Given the description of an element on the screen output the (x, y) to click on. 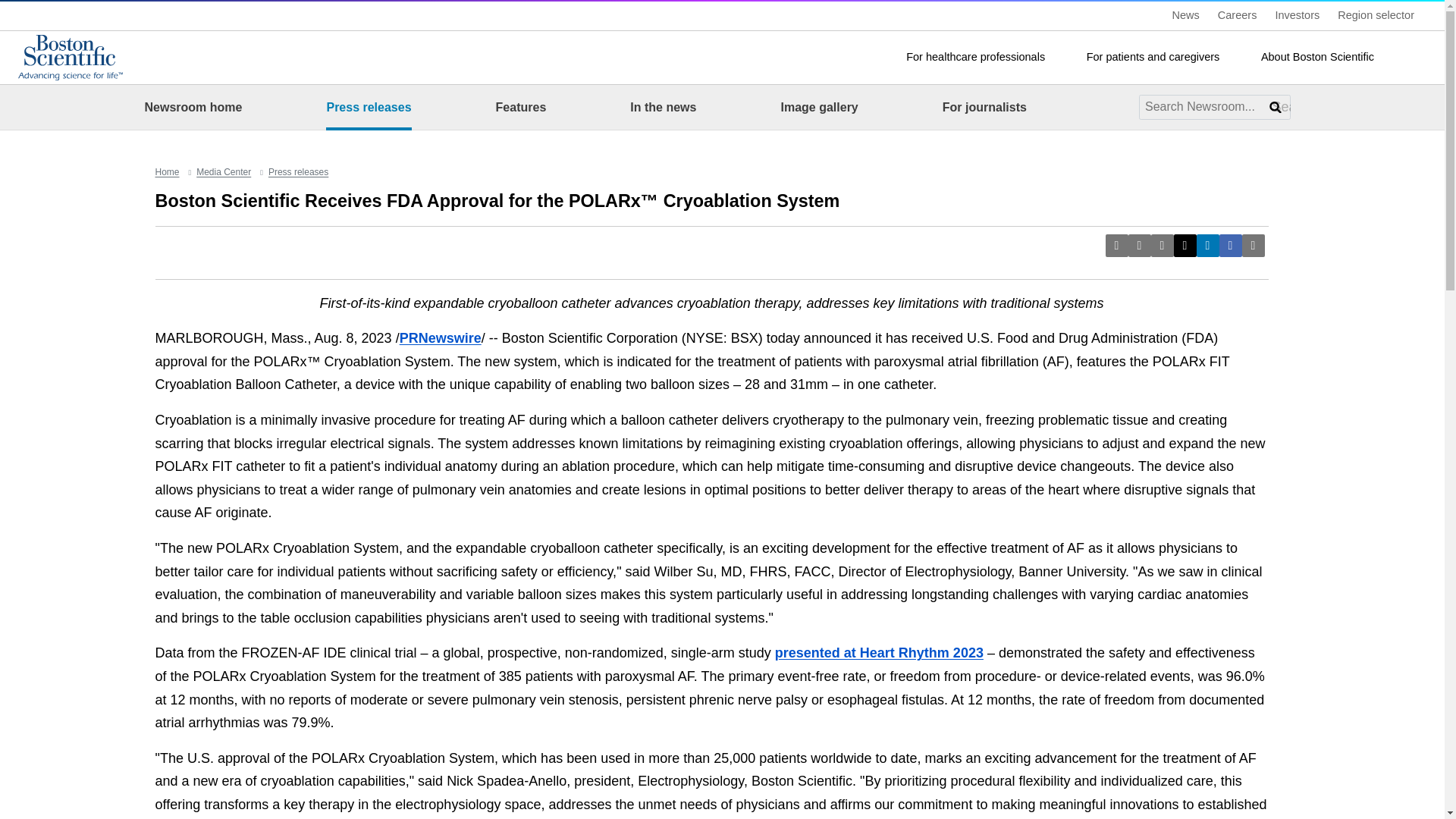
Search (1420, 57)
Region selector (1382, 15)
Careers (1237, 15)
For patients and caregivers (1161, 57)
News (1185, 15)
For healthcare professionals (983, 57)
Investors (1296, 15)
About Boston Scientific (1326, 57)
